Given the description of an element on the screen output the (x, y) to click on. 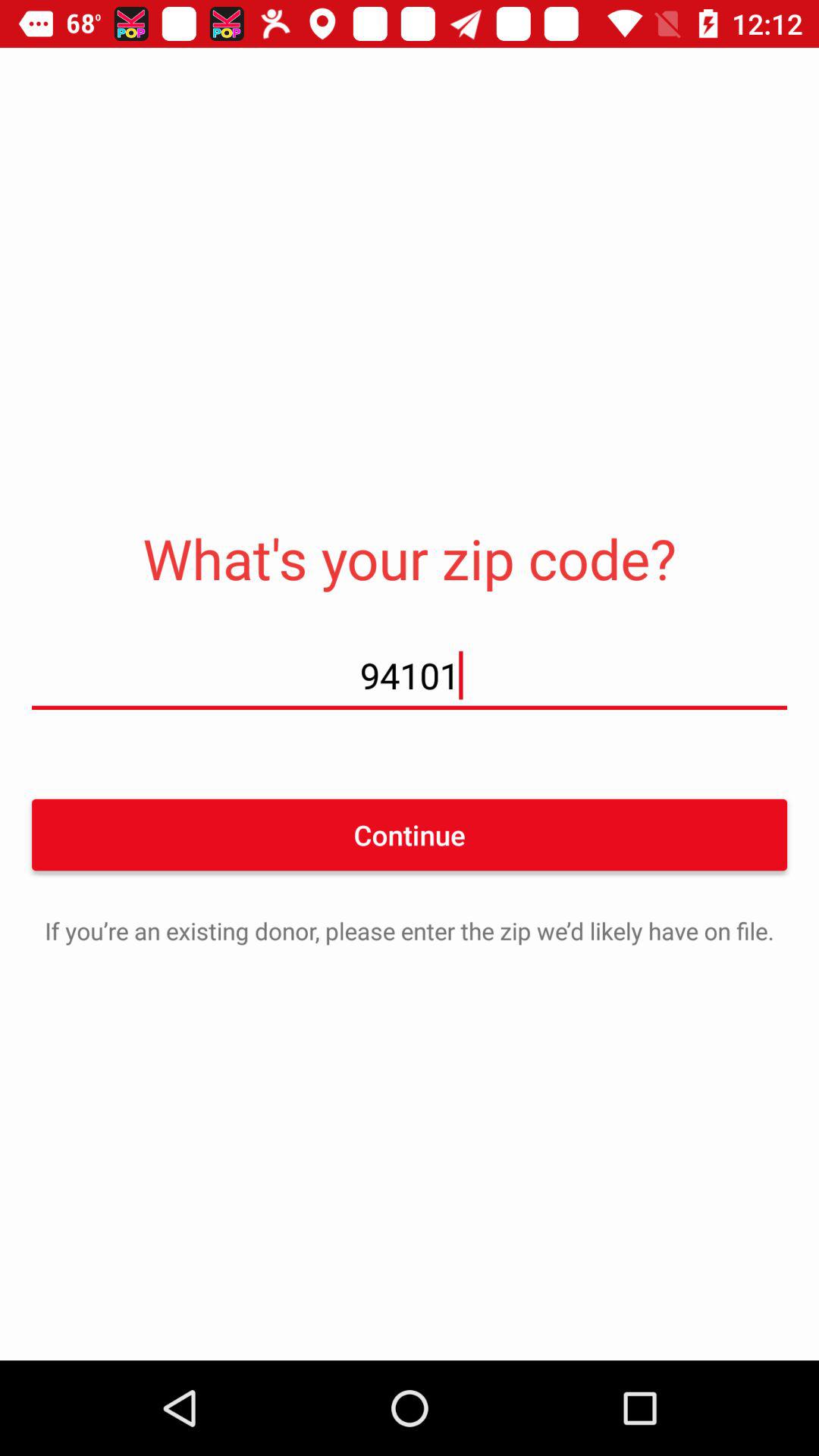
turn off the icon above continue icon (409, 675)
